Given the description of an element on the screen output the (x, y) to click on. 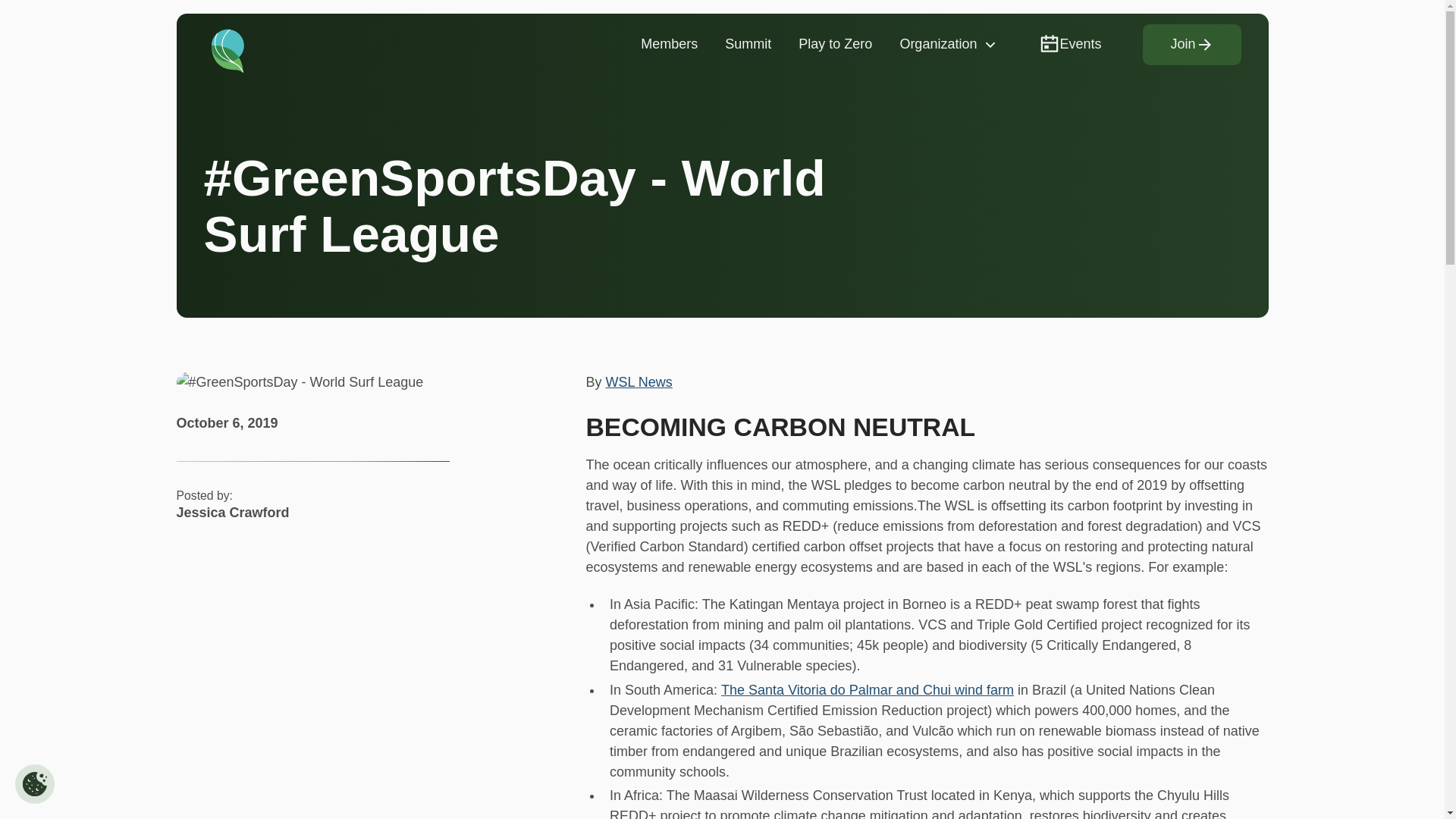
Play to Zero (834, 44)
WSL News (638, 381)
The Santa Vitoria do Palmar and Chui wind farm (866, 689)
Join (1191, 44)
Members (669, 44)
Events (1069, 43)
Summit (747, 44)
